Given the description of an element on the screen output the (x, y) to click on. 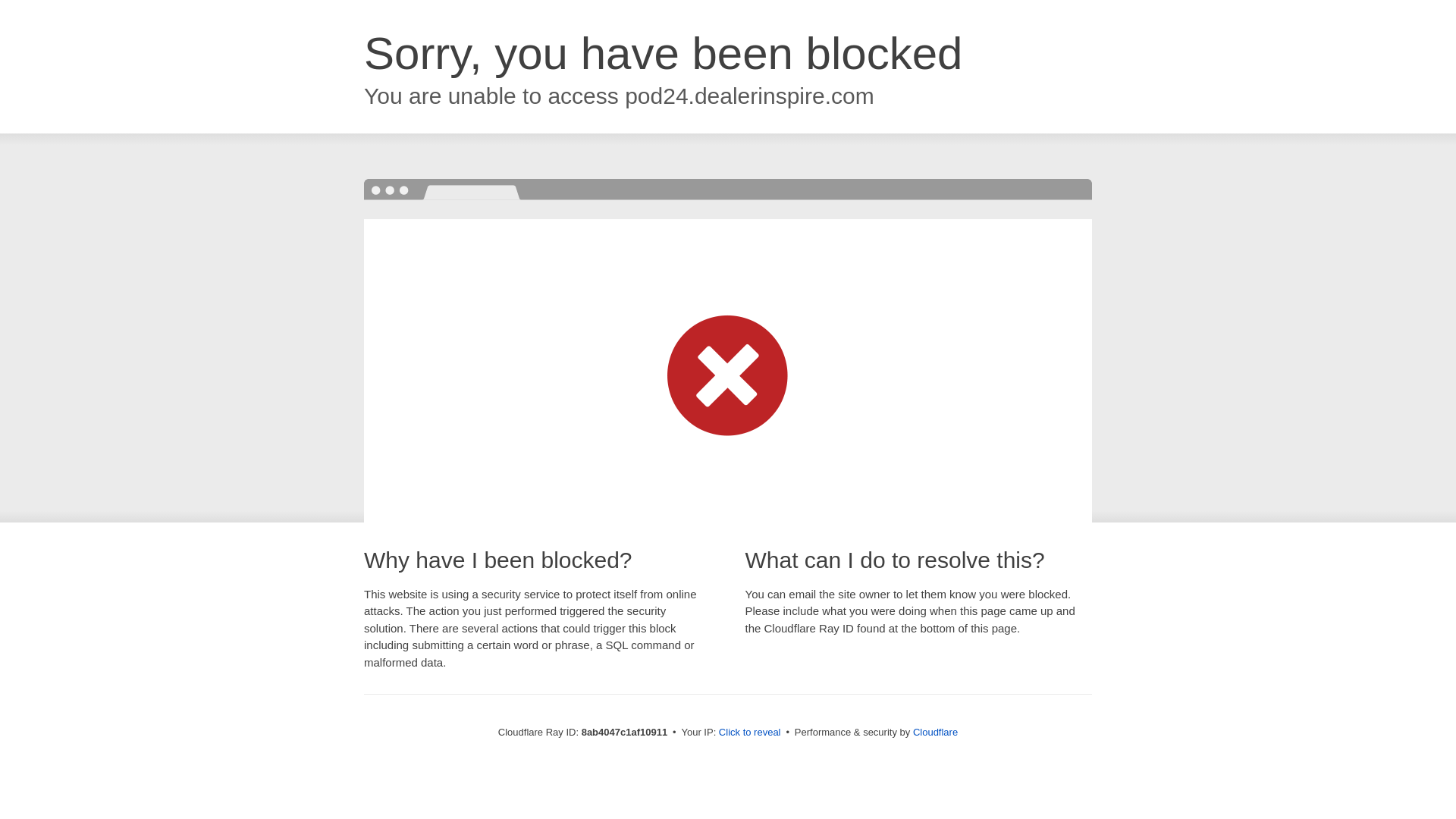
Click to reveal (749, 732)
Cloudflare (935, 731)
